Given the description of an element on the screen output the (x, y) to click on. 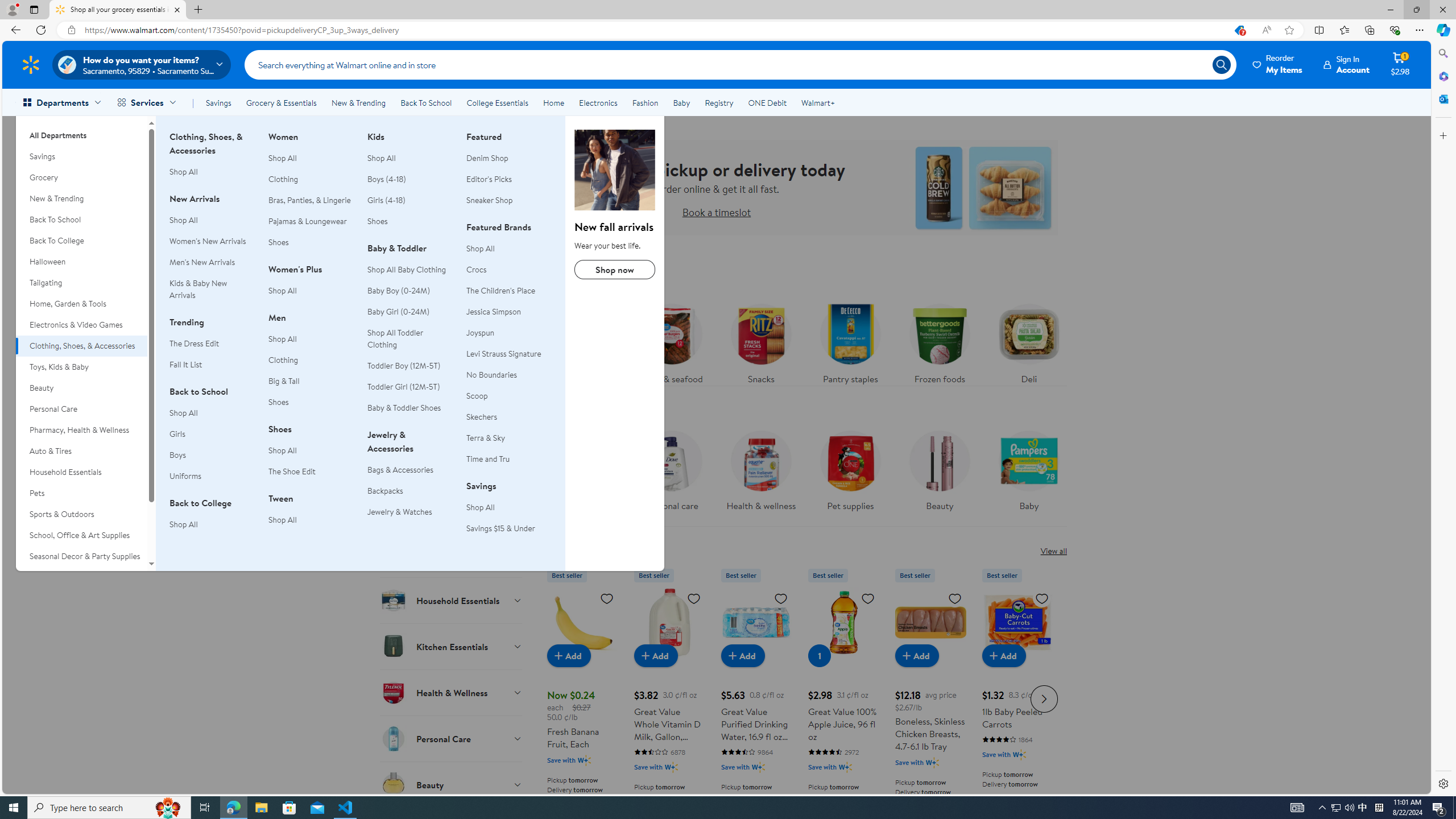
Jewelry & Watches (409, 512)
Uniforms (211, 476)
Shoes (376, 220)
New & Trending (358, 102)
Electronics & Video Games (81, 324)
Personal Care (81, 408)
Back To School (81, 219)
Deli (1029, 340)
Clothing, Shoes, & AccessoriesShop All (211, 160)
Kitchen Essentials (451, 646)
Kids & Baby New Arrivals (211, 289)
